Given the description of an element on the screen output the (x, y) to click on. 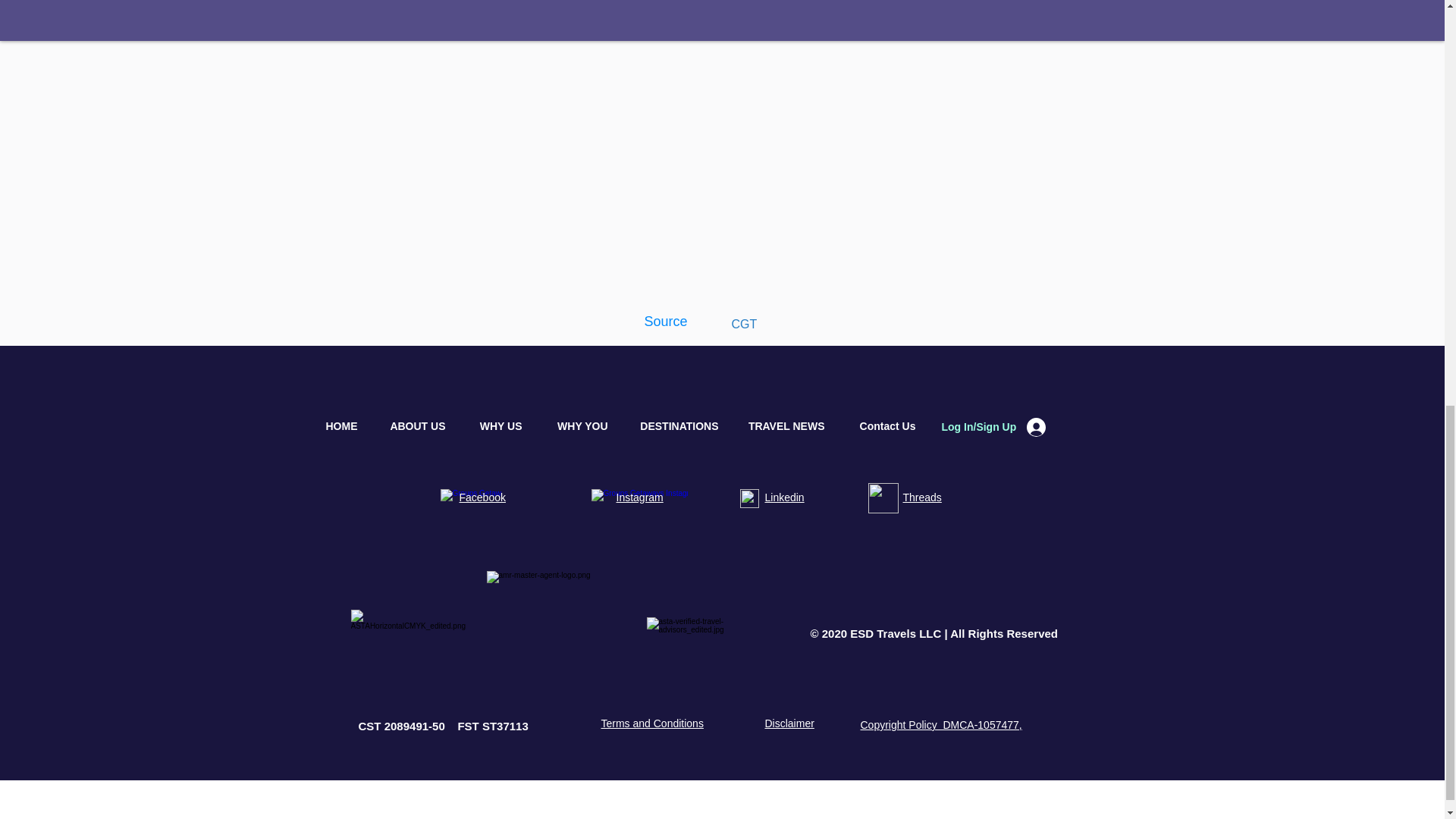
Disclaimer (788, 723)
HOME (334, 425)
WHY US (494, 425)
TRAVEL NEWS (782, 425)
Facebook (482, 497)
ABOUT US (412, 425)
DESTINATIONS (673, 425)
Contact Us (880, 425)
Instagram (638, 497)
Terms and Conditions (651, 723)
